Given the description of an element on the screen output the (x, y) to click on. 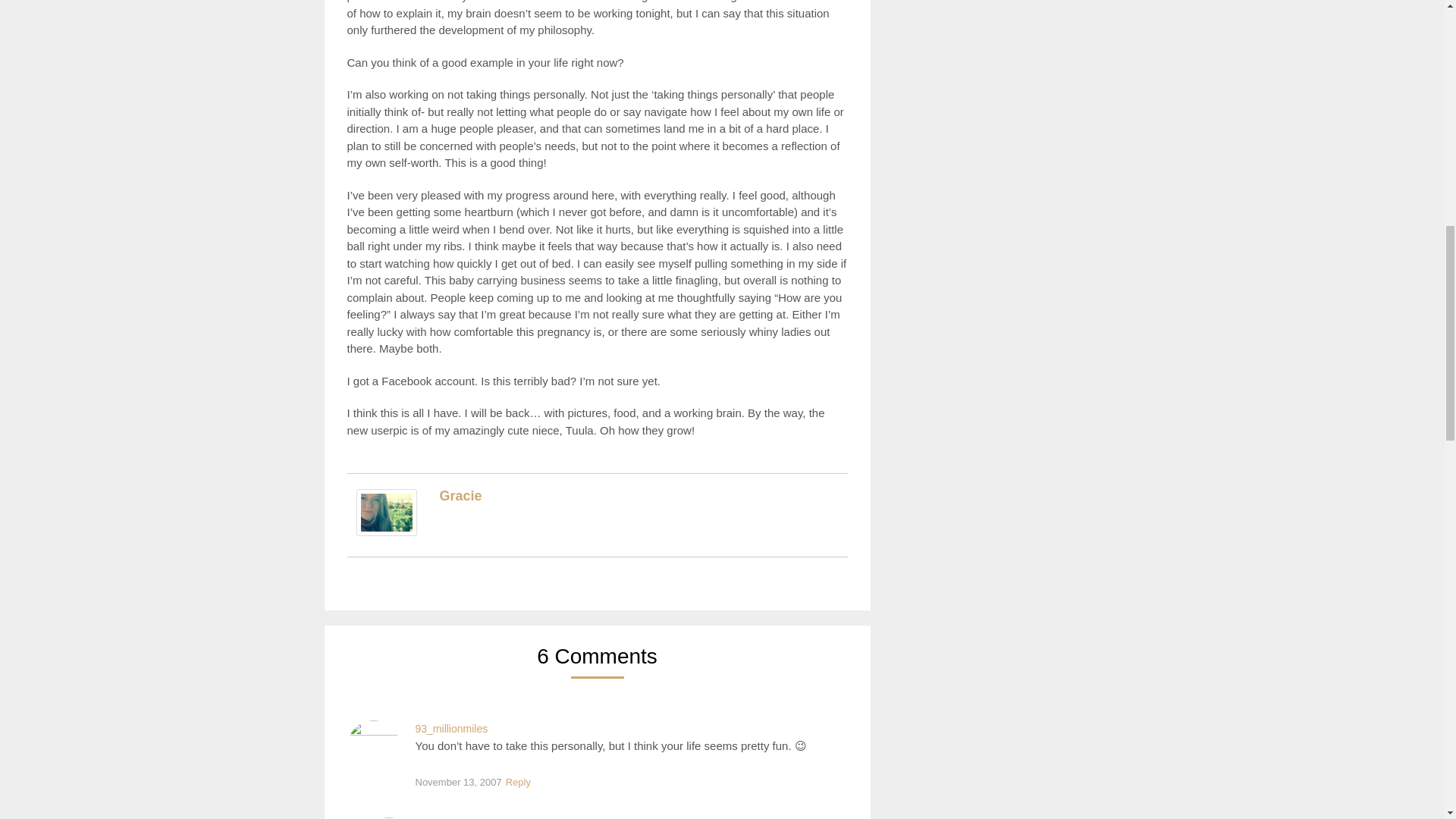
Gracie (460, 495)
Reply (518, 782)
Gracie (386, 531)
